Given the description of an element on the screen output the (x, y) to click on. 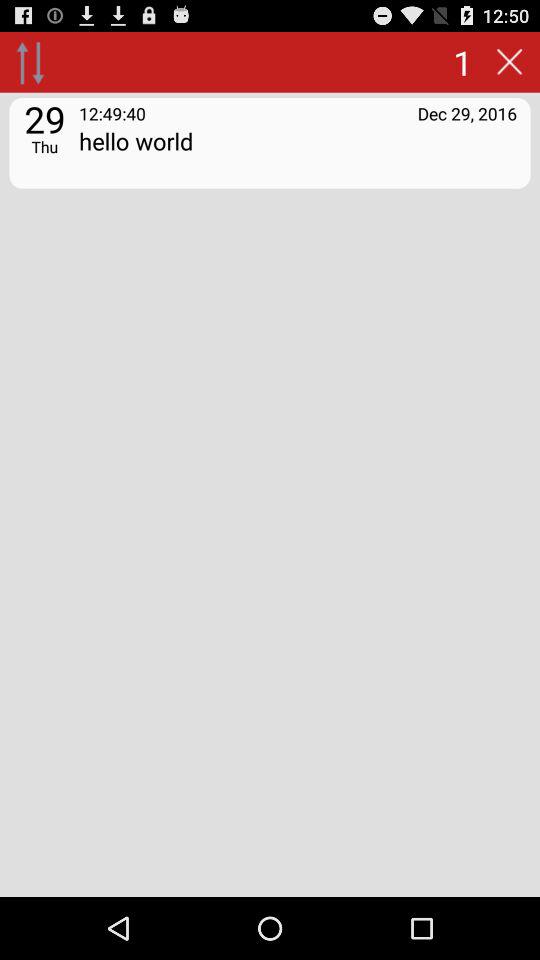
choose the icon next to hello world icon (44, 146)
